Given the description of an element on the screen output the (x, y) to click on. 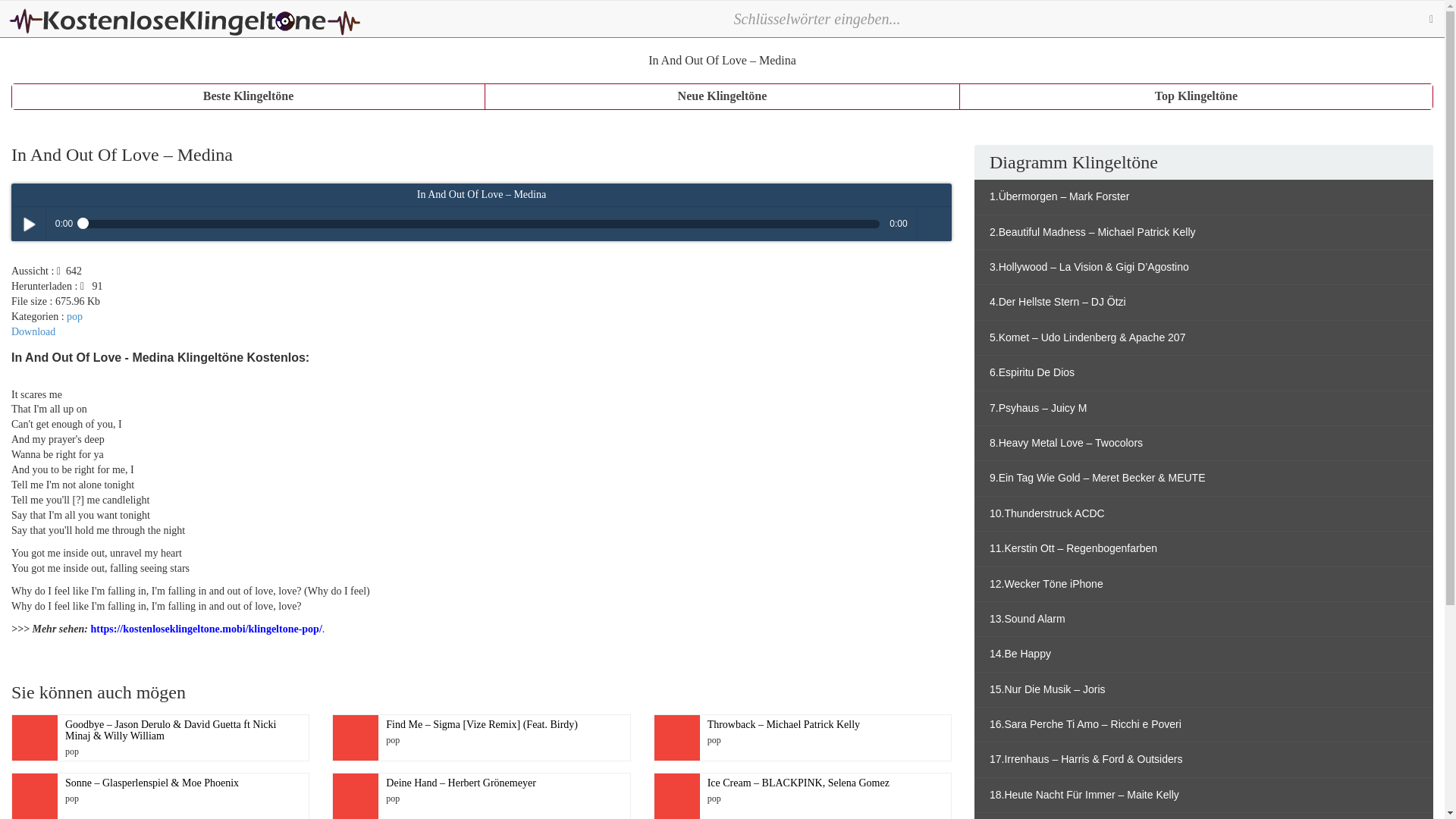
13.Sound Alarm (1203, 618)
volume (934, 223)
Download (33, 331)
pop (74, 316)
6.Espiritu De Dios (1203, 372)
10.Thunderstruck ACDC (1203, 513)
pop (74, 316)
14.Be Happy (1203, 653)
